Given the description of an element on the screen output the (x, y) to click on. 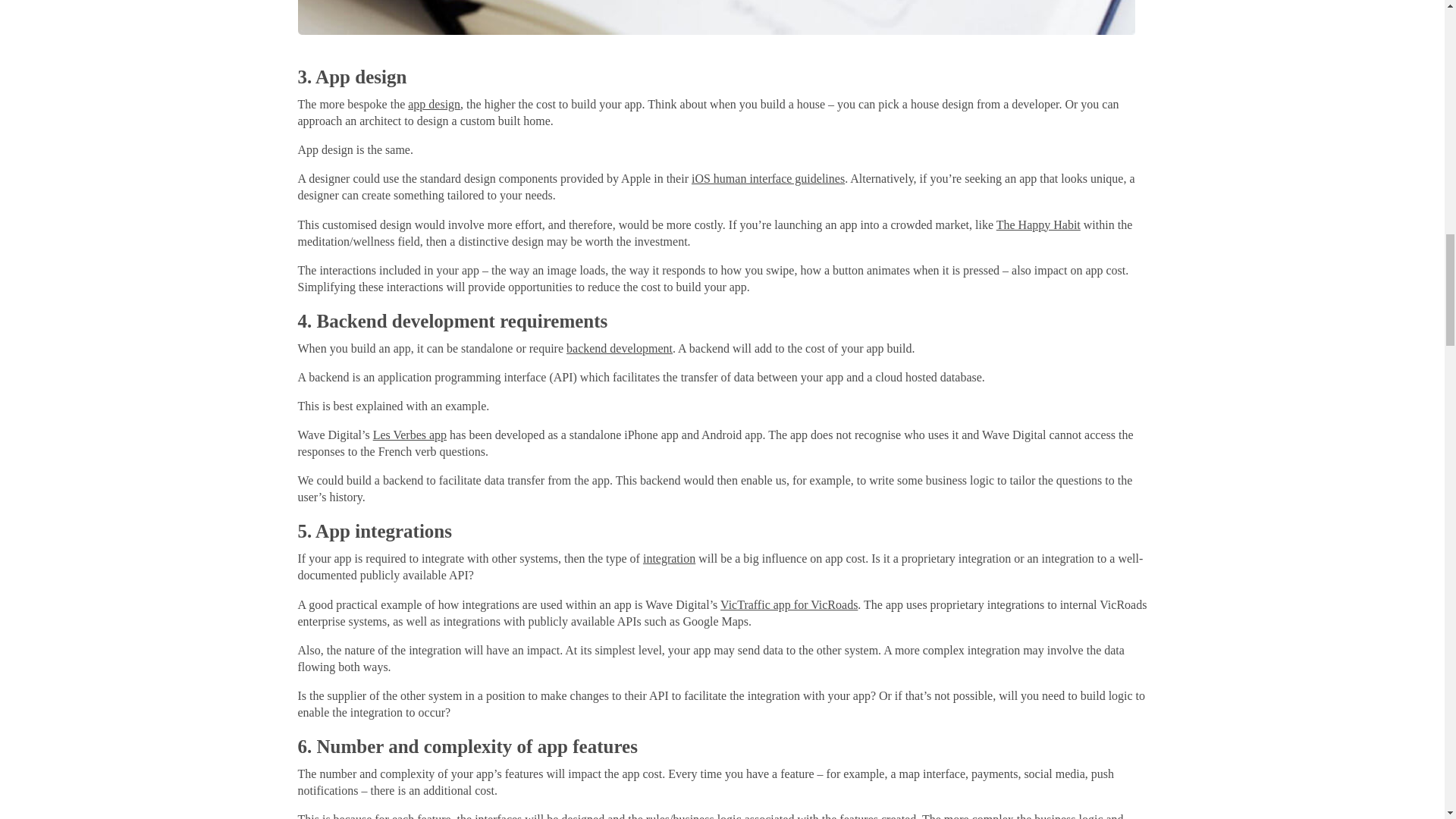
integration (669, 558)
app design (433, 103)
backend development (619, 348)
The Happy Habit (1037, 224)
Les Verbes app (409, 434)
VicTraffic app for VicRoads (788, 604)
iOS human interface guidelines (767, 178)
